Given the description of an element on the screen output the (x, y) to click on. 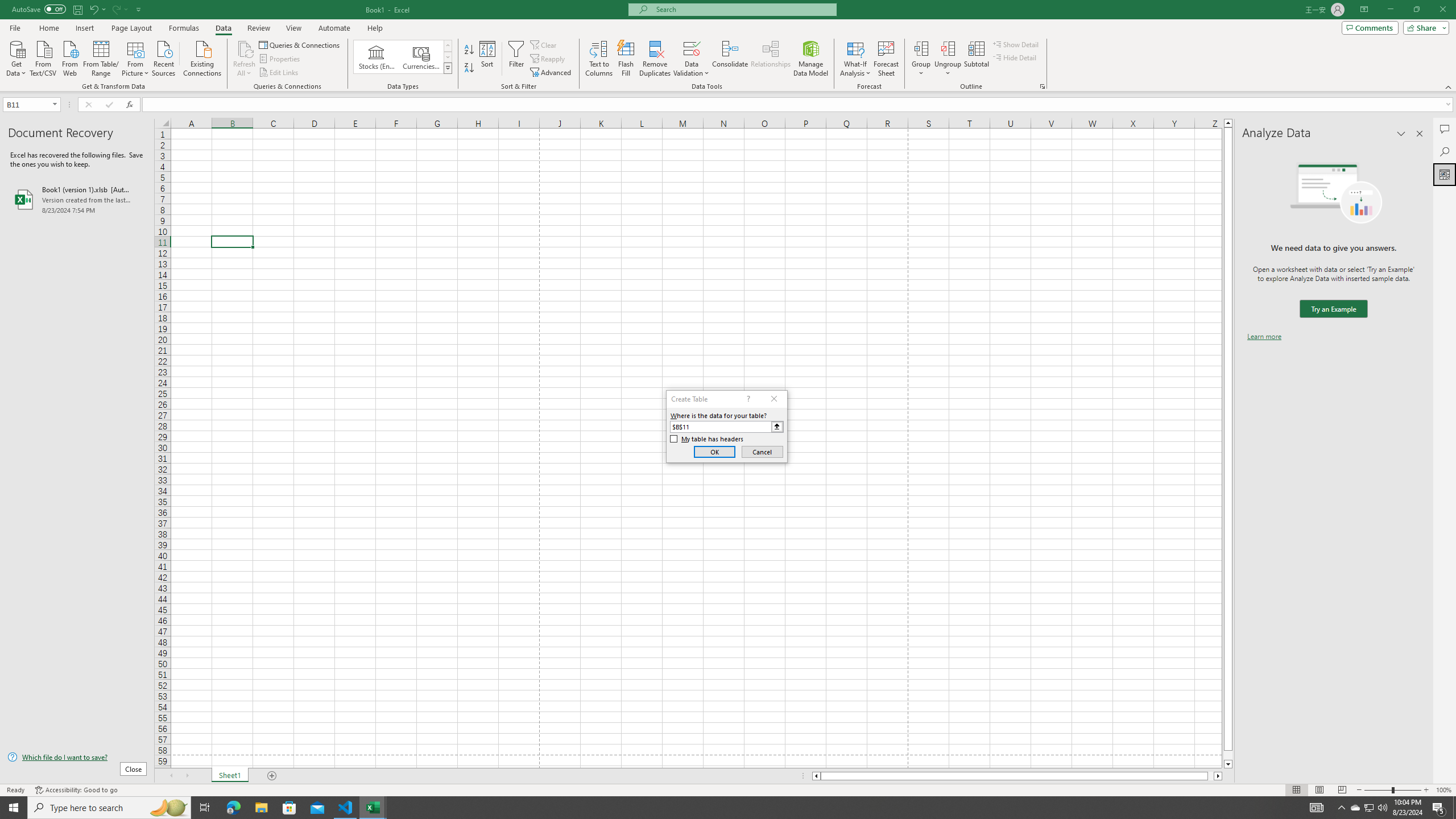
Analyze Data (1444, 173)
Clear (544, 44)
Edit Links (279, 72)
We need data to give you answers. Try an Example (1333, 308)
Show Detail (1016, 44)
Text to Columns... (598, 58)
Group and Outline Settings (1042, 85)
